Given the description of an element on the screen output the (x, y) to click on. 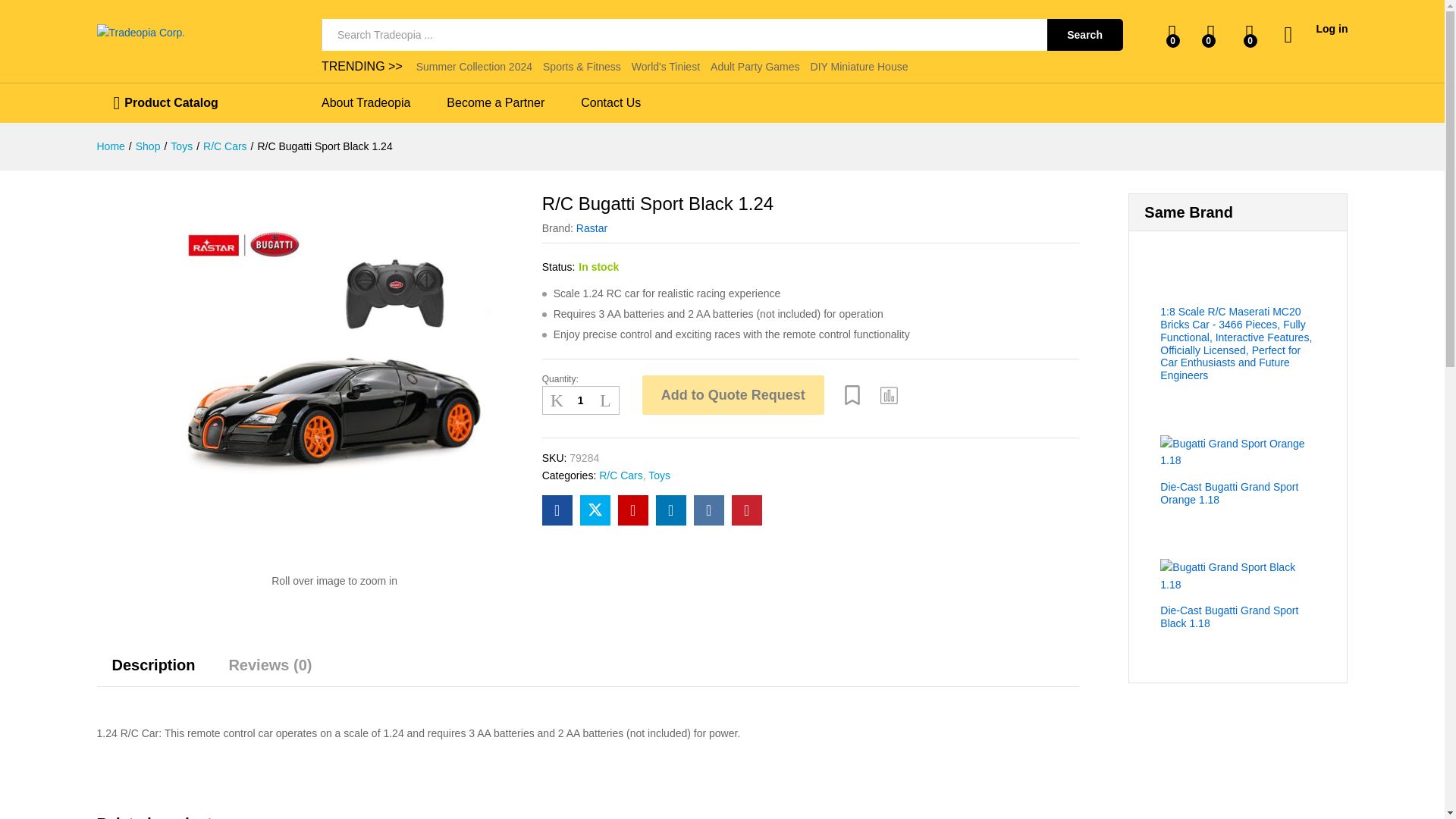
Log in (1316, 29)
1 (580, 400)
World's Tiniest (665, 66)
DIY Miniature House (859, 66)
Adult Party Games (754, 66)
Search (1084, 34)
Qty (580, 400)
Summer Collection 2024 (474, 66)
Wishlist (852, 394)
